Given the description of an element on the screen output the (x, y) to click on. 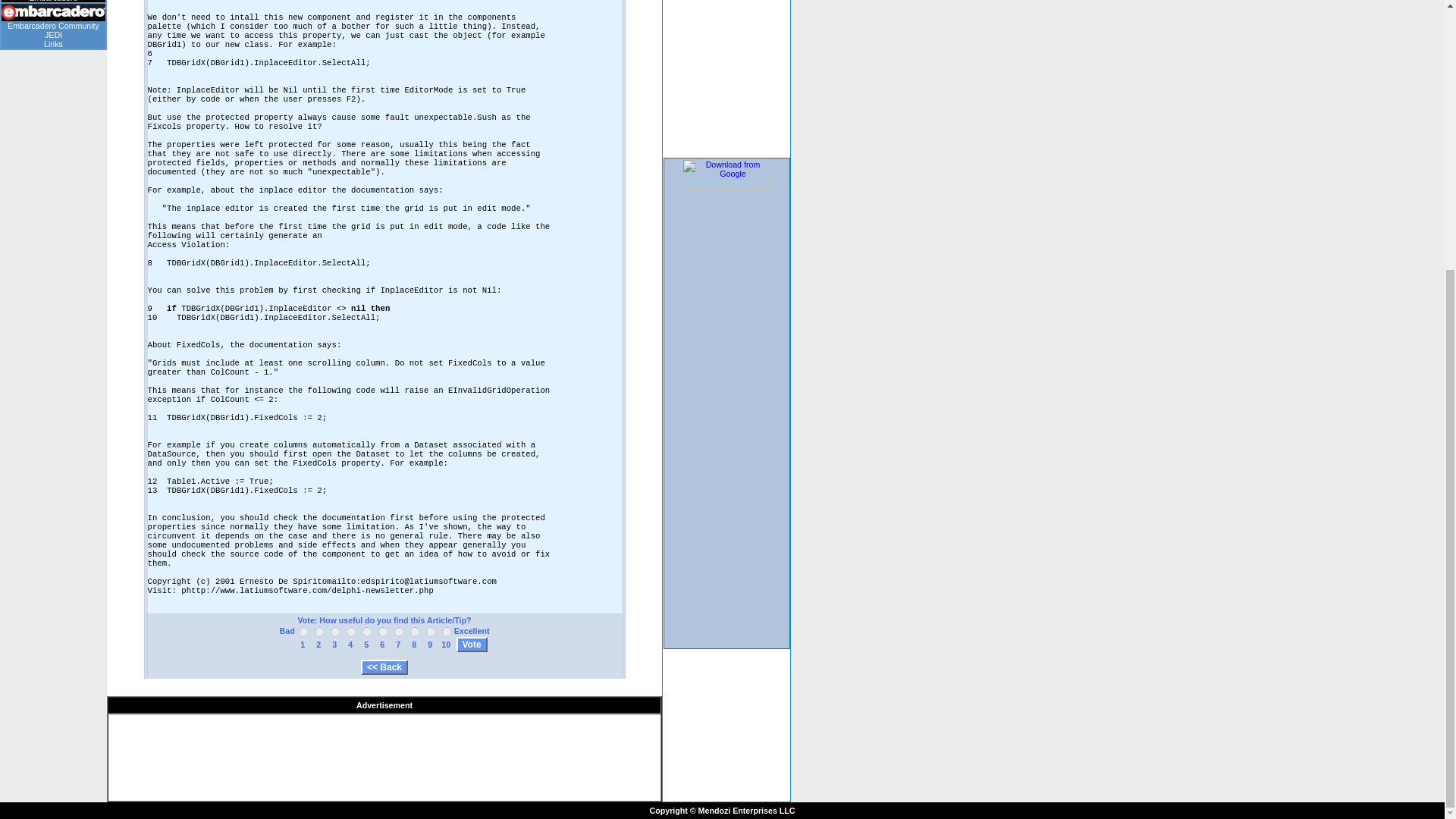
Links (52, 43)
JEDI (53, 34)
Vote (472, 644)
9 (430, 632)
10 (446, 632)
Embarcadero Community (53, 25)
4 (351, 632)
8 (415, 632)
3 (335, 632)
2 (319, 632)
